Given the description of an element on the screen output the (x, y) to click on. 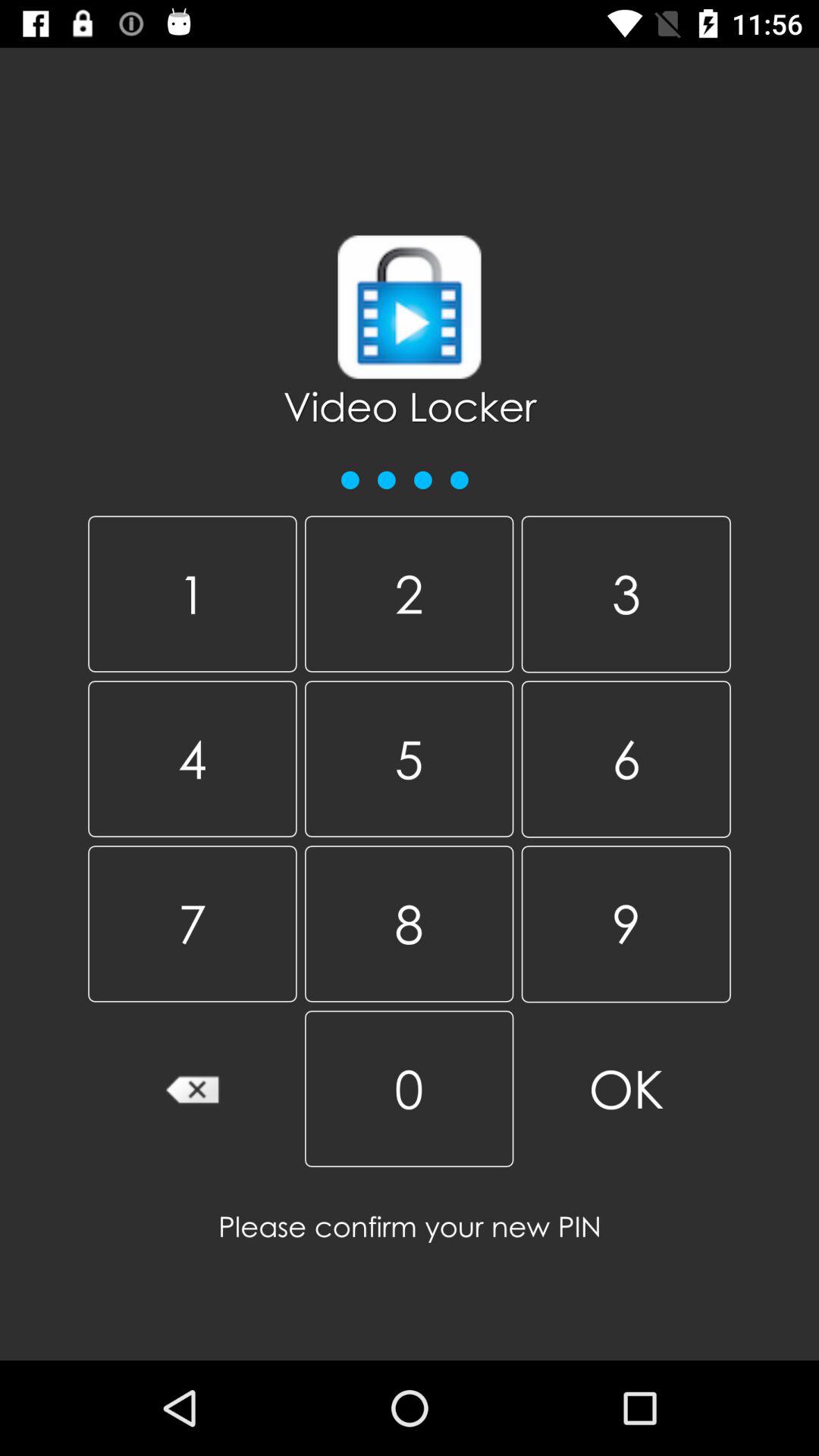
jump to 6 icon (625, 758)
